Given the description of an element on the screen output the (x, y) to click on. 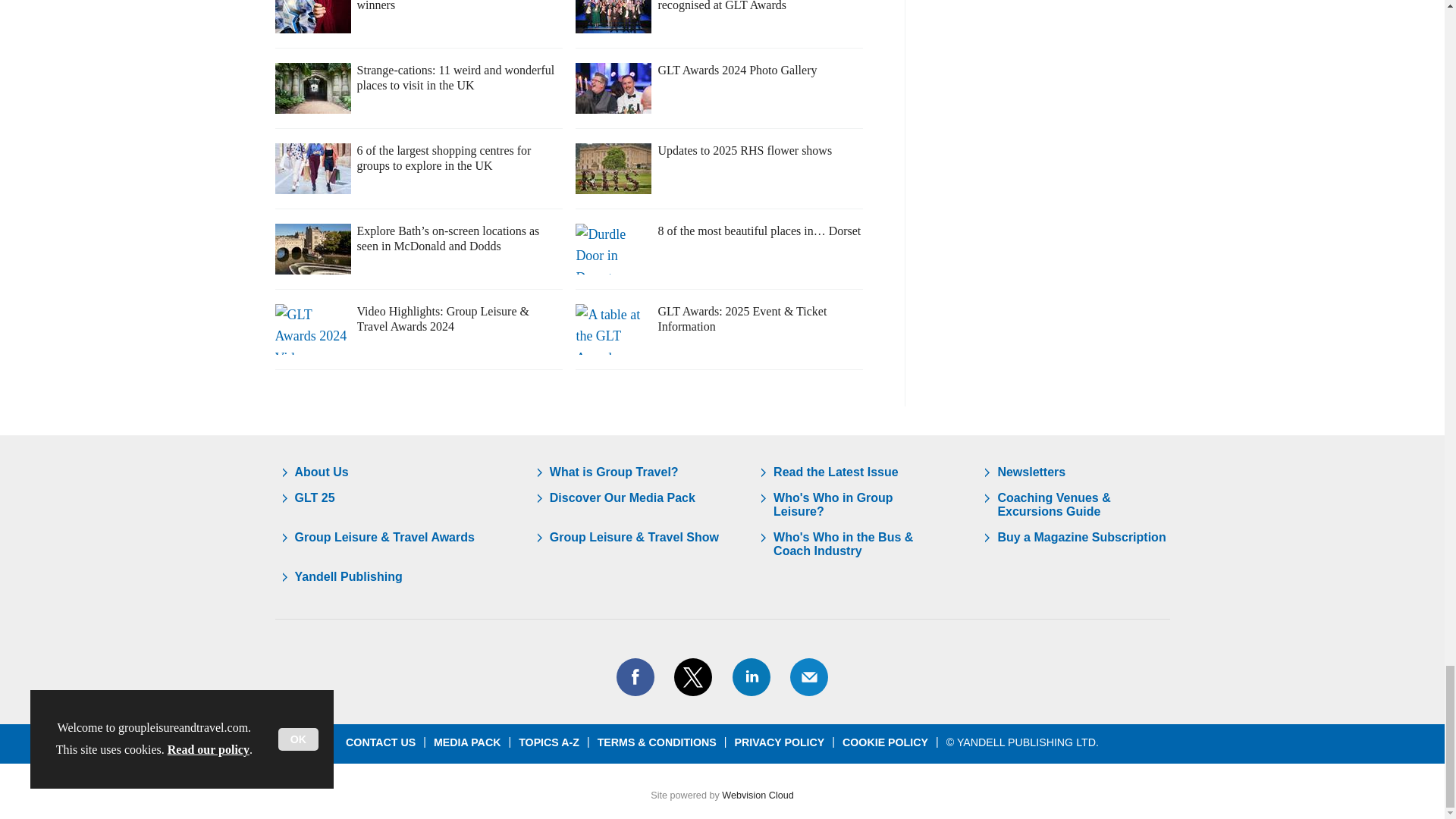
Follow us on Facebook (635, 676)
Email us (808, 676)
Follow us on LinkedIn (750, 676)
